Given the description of an element on the screen output the (x, y) to click on. 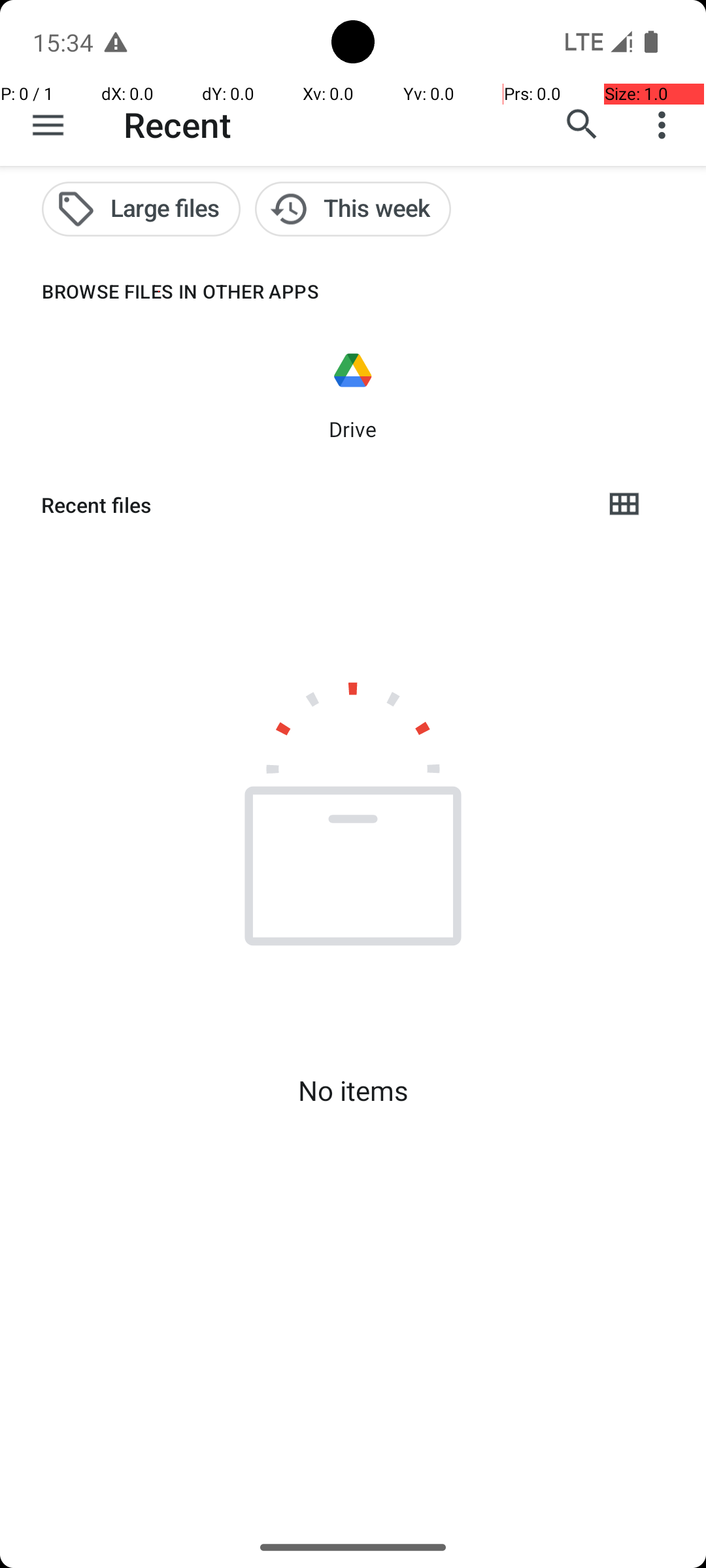
BROWSE FILES IN OTHER APPS Element type: android.widget.TextView (159, 291)
Recent files Element type: android.widget.TextView (311, 504)
Drive Element type: android.widget.TextView (352, 428)
